Given the description of an element on the screen output the (x, y) to click on. 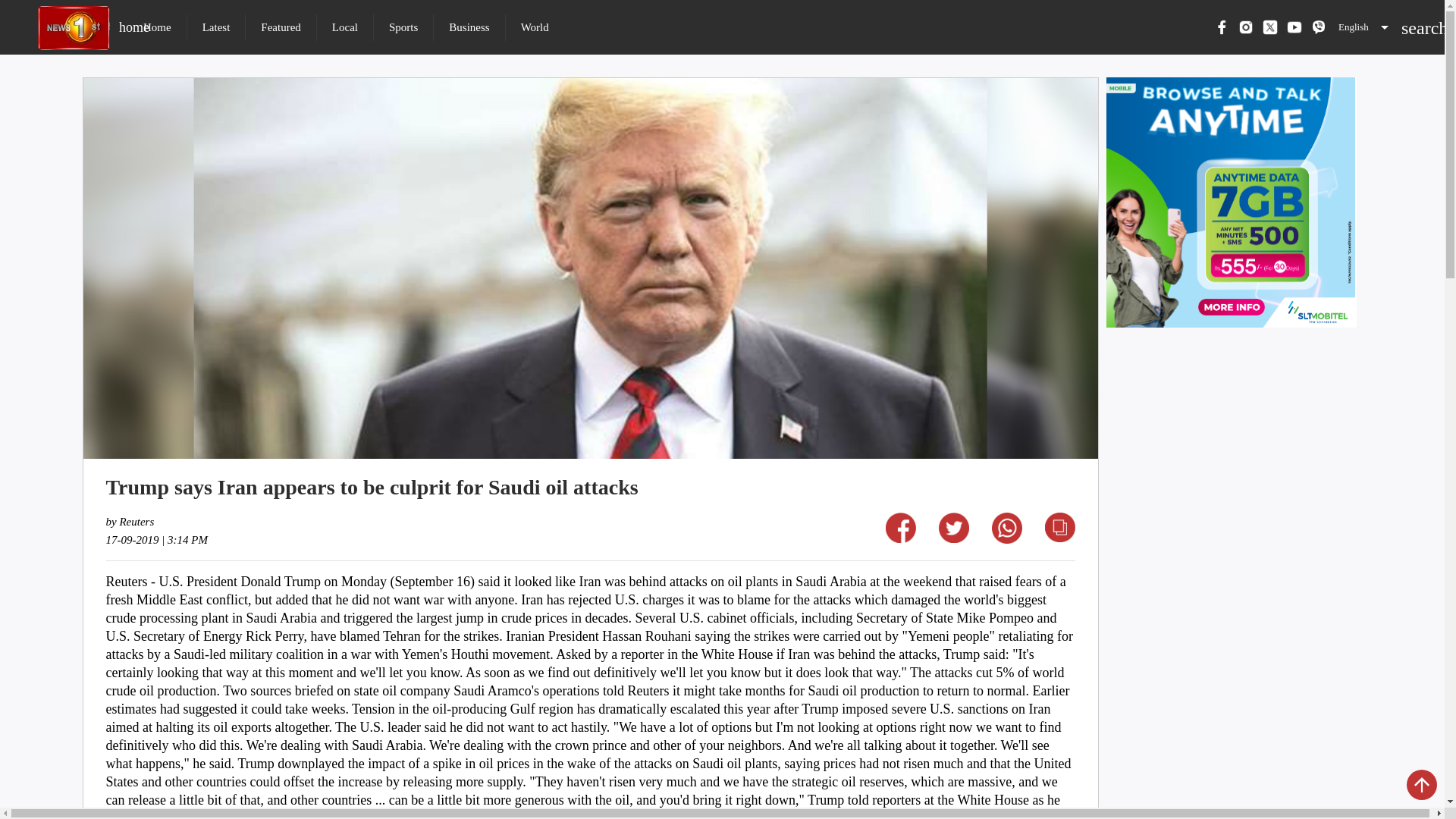
Latest (216, 27)
Share via WhatsApp (1006, 539)
World (148, 27)
Business (534, 27)
Local (468, 27)
search (344, 27)
Sports (1409, 27)
Share via Facebook (403, 27)
Copy Link (900, 538)
Featured (1060, 537)
Share via X (280, 27)
menu (954, 538)
